Given the description of an element on the screen output the (x, y) to click on. 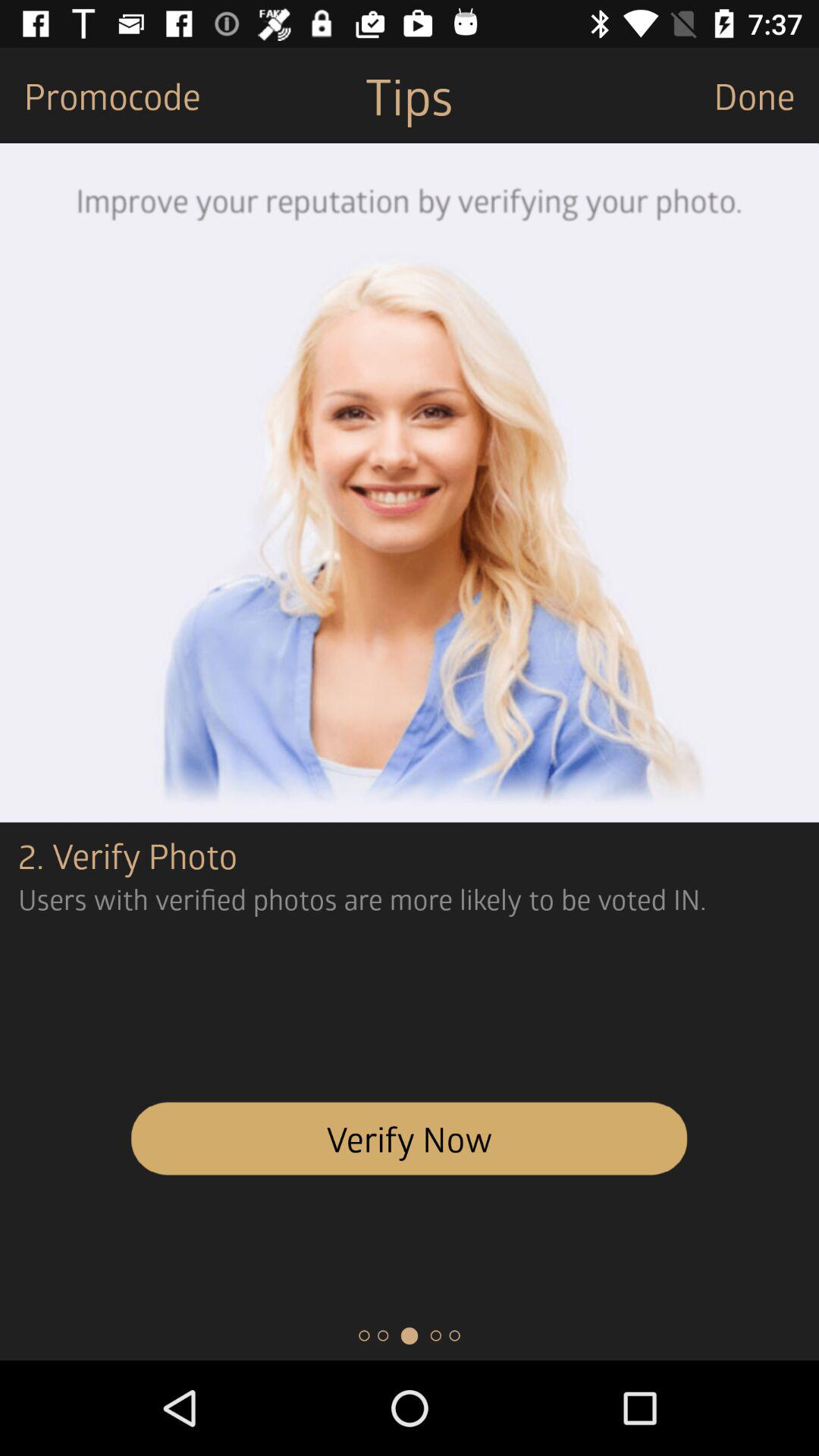
turn on item at the top right corner (766, 95)
